Given the description of an element on the screen output the (x, y) to click on. 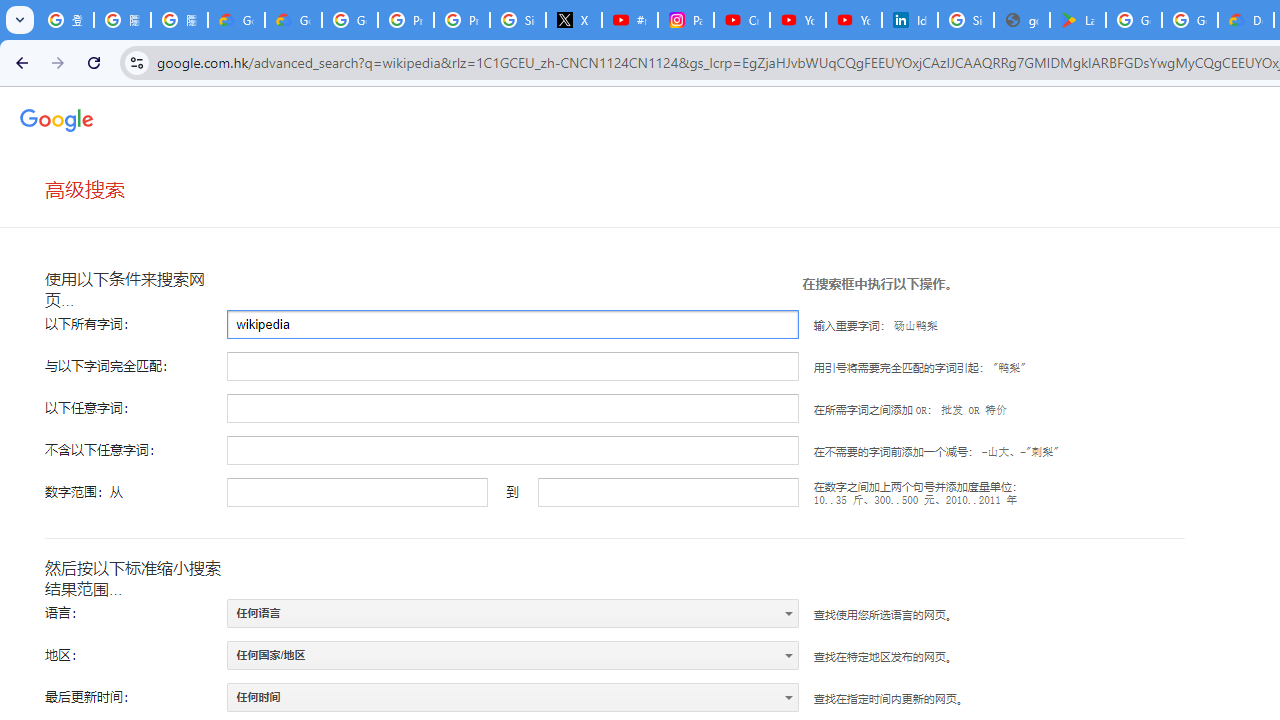
YouTube Culture & Trends - YouTube Top 10, 2021 (853, 20)
google_privacy_policy_en.pdf (1021, 20)
#nbabasketballhighlights - YouTube (629, 20)
Google Cloud Privacy Notice (293, 20)
